Given the description of an element on the screen output the (x, y) to click on. 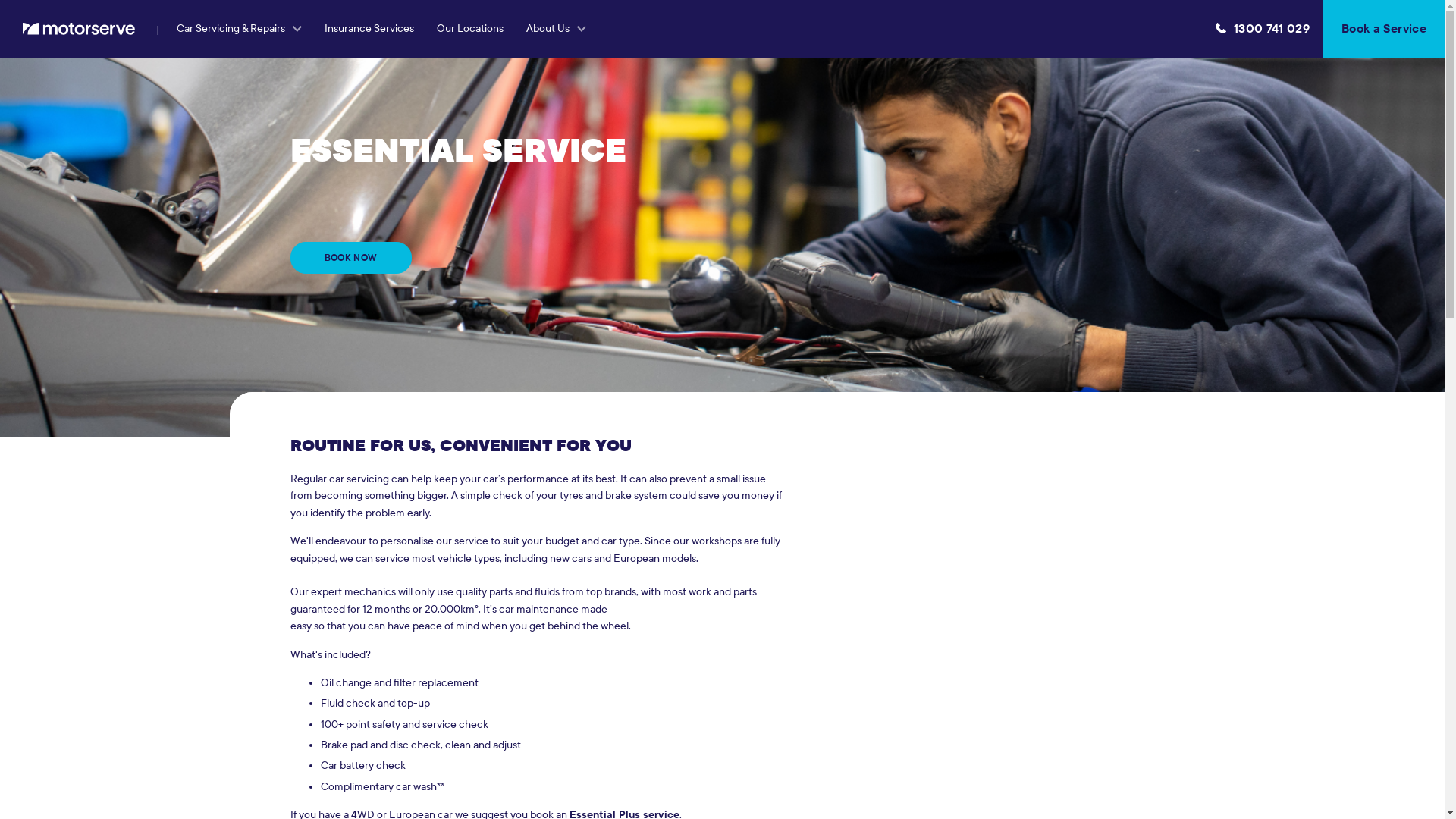
About Us Element type: text (555, 28)
1300 869 585 Element type: text (1262, 28)
Our Locations Element type: text (469, 28)
Book a Service Element type: text (1383, 28)
Insurance Services Element type: text (369, 28)
Car Servicing & Repairs Element type: text (239, 28)
BOOK NOW Element type: text (350, 257)
